Given the description of an element on the screen output the (x, y) to click on. 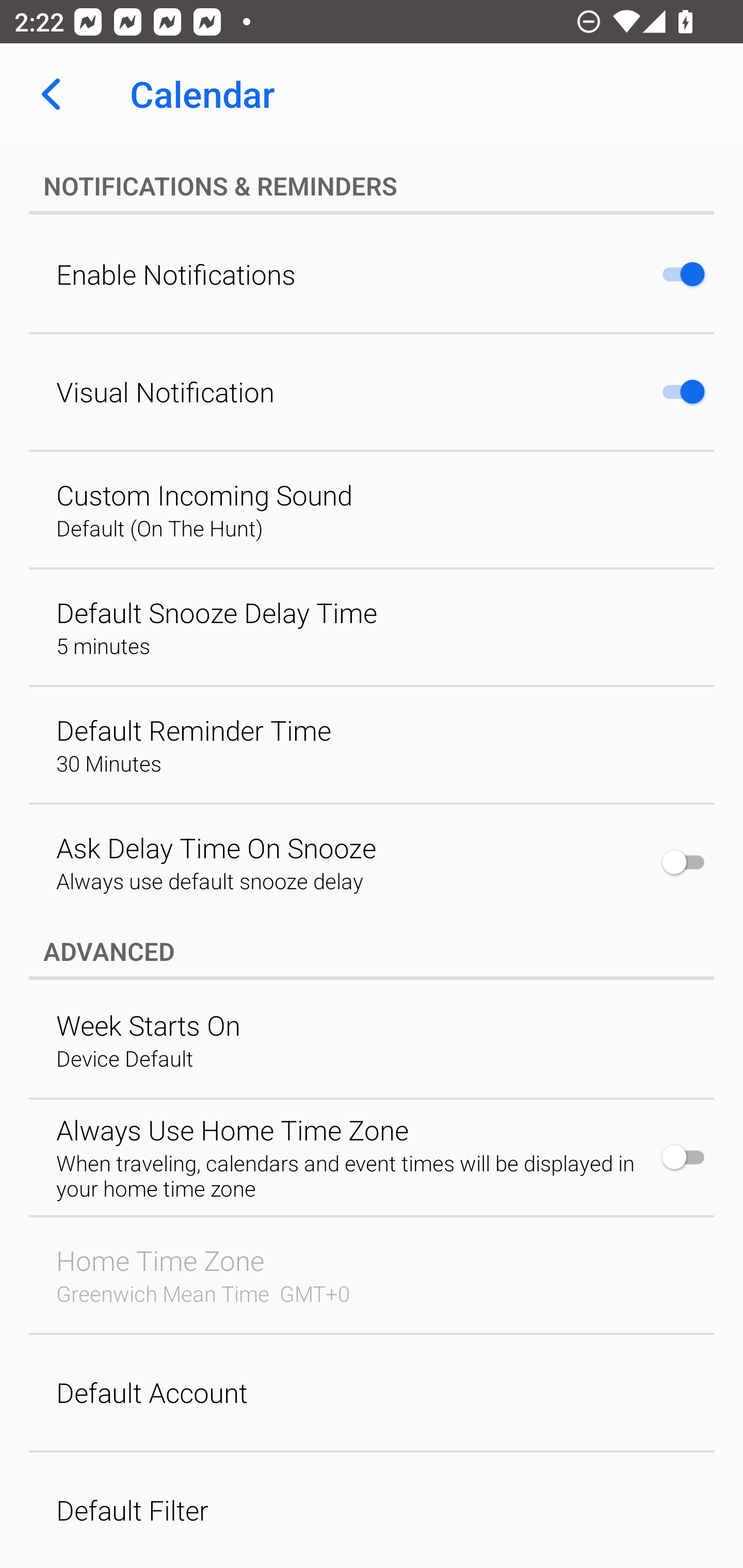
Navigate up (50, 93)
Enable Notifications (371, 274)
Visual Notification (371, 391)
Custom Incoming Sound Default (On The Hunt) (371, 509)
Default Snooze Delay Time 5 minutes (371, 627)
Default Reminder Time 30 Minutes (371, 744)
Week Starts On Device Default (371, 1039)
Home Time Zone Greenwich Mean Time  GMT+0 (371, 1274)
Default Account (371, 1392)
Default Filter (371, 1509)
